Given the description of an element on the screen output the (x, y) to click on. 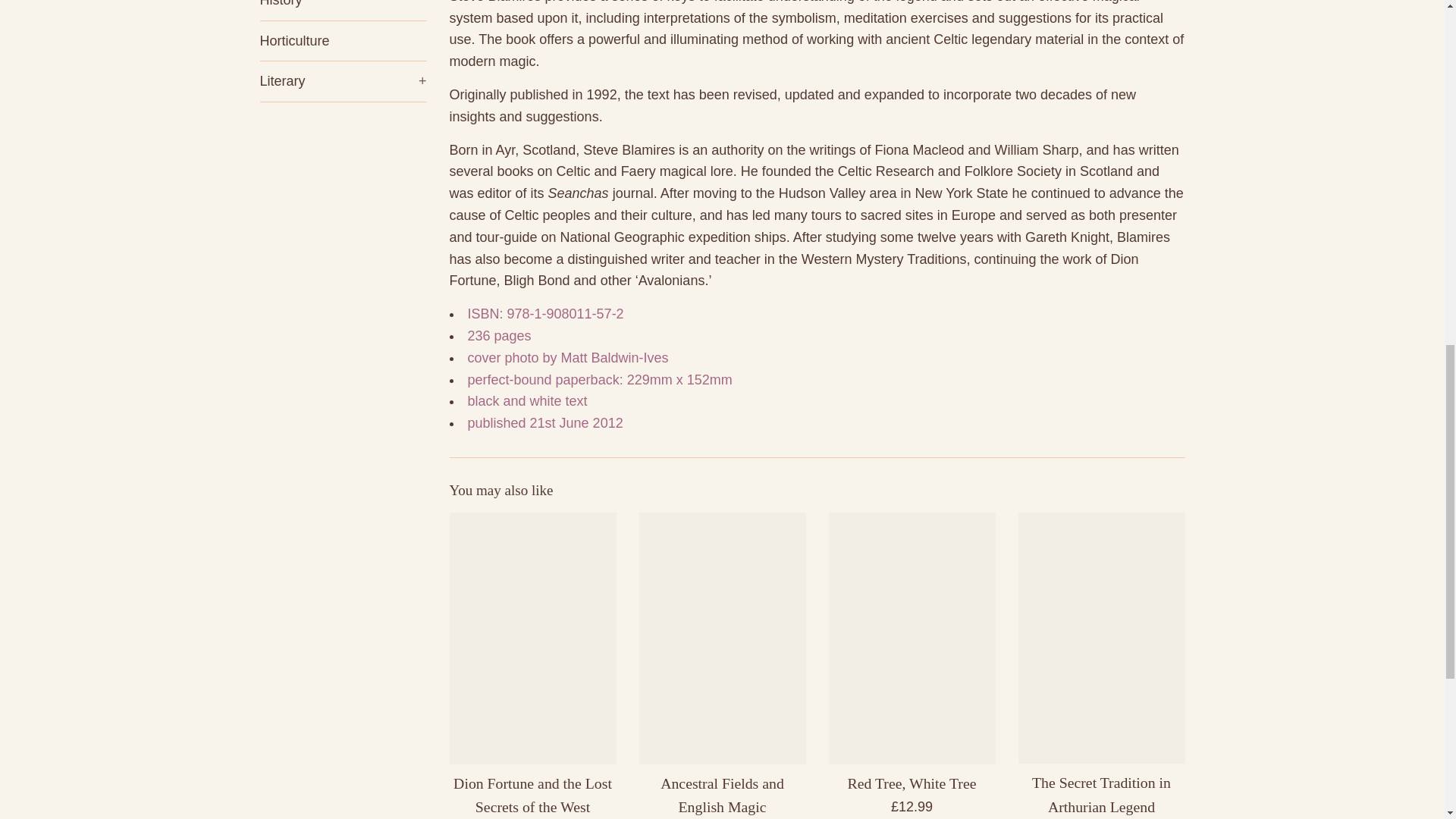
History (342, 10)
Horticulture (342, 41)
